Given the description of an element on the screen output the (x, y) to click on. 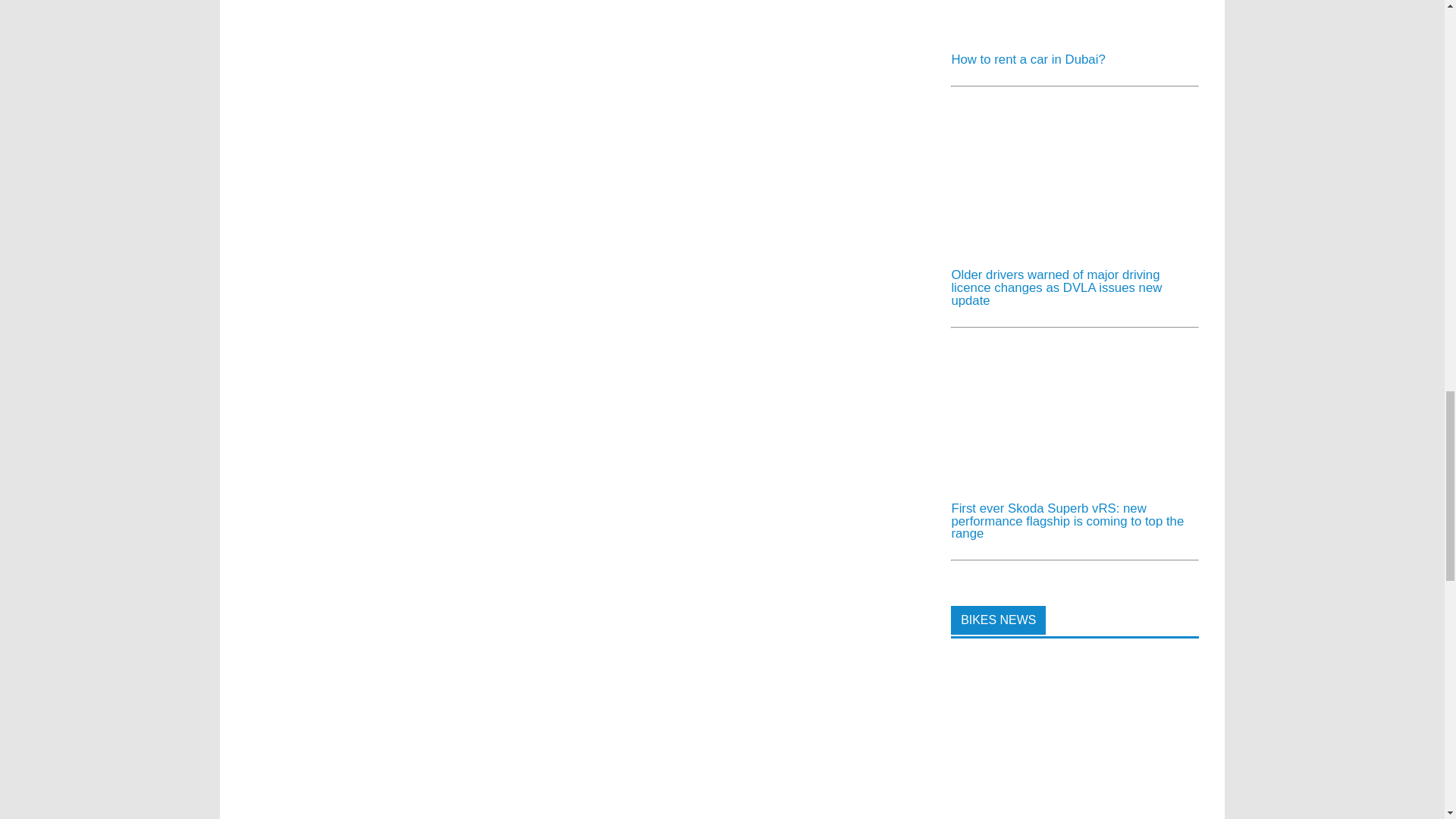
How to rent a car in Dubai? (1063, 34)
How to rent a car in Dubai? (1027, 59)
